Given the description of an element on the screen output the (x, y) to click on. 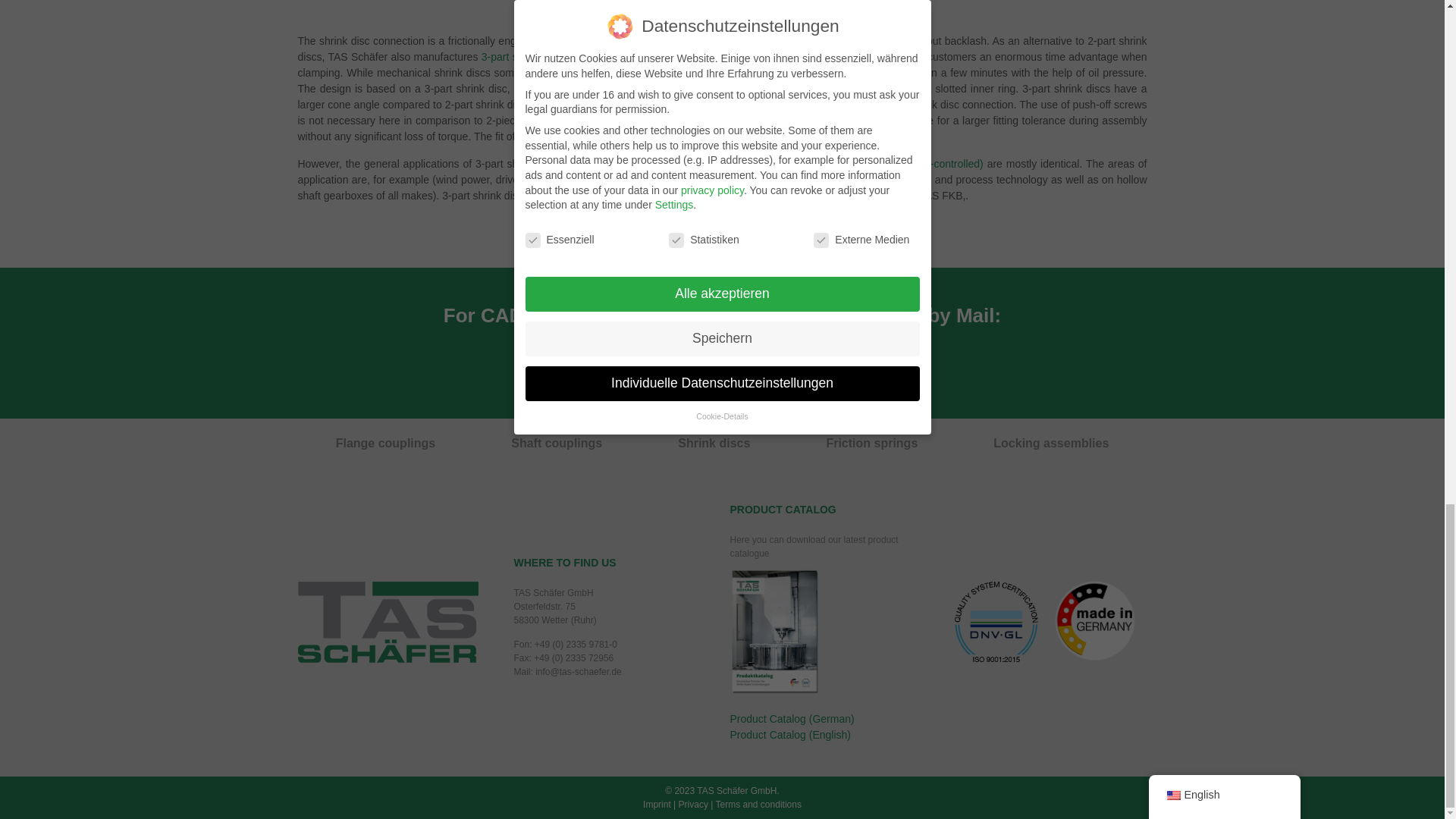
3-part shrink discs (525, 56)
Locking assemblies (1051, 443)
Friction springs (871, 443)
Flange couplings (386, 443)
Shaft couplings (556, 443)
Hydraulic Shrink Discs (675, 56)
Shrink discs (713, 443)
